Given the description of an element on the screen output the (x, y) to click on. 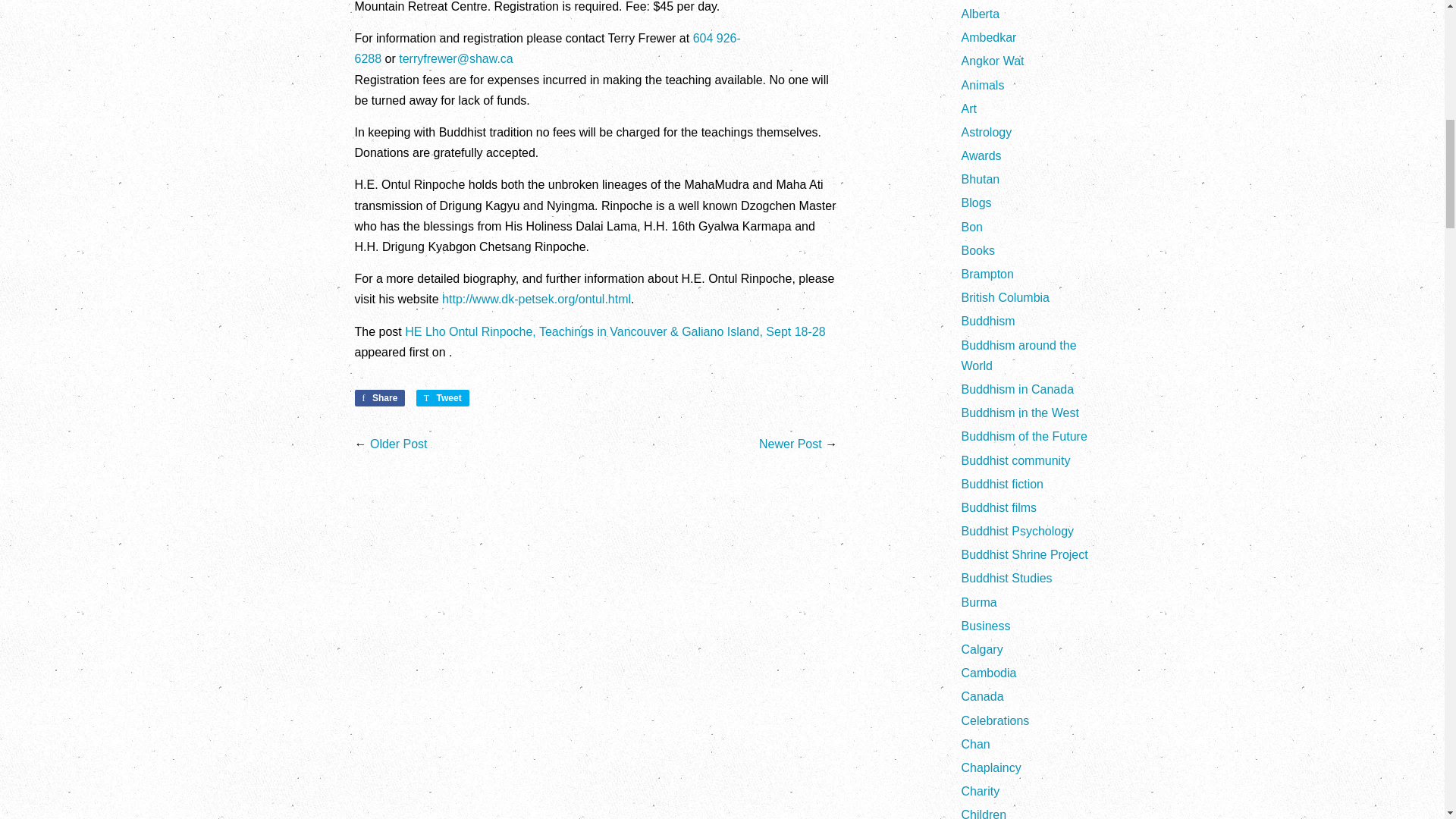
Show articles tagged Astrology (985, 132)
Show articles tagged Alberta (980, 13)
Show articles tagged Angkor Wat (992, 60)
Show articles tagged Bhutan (980, 178)
Show articles tagged Ambedkar (988, 37)
Show articles tagged Bon (971, 226)
Show articles tagged Art (968, 108)
Show articles tagged Blogs (975, 202)
Tweet on Twitter (442, 397)
Show articles tagged Animals (982, 84)
